Given the description of an element on the screen output the (x, y) to click on. 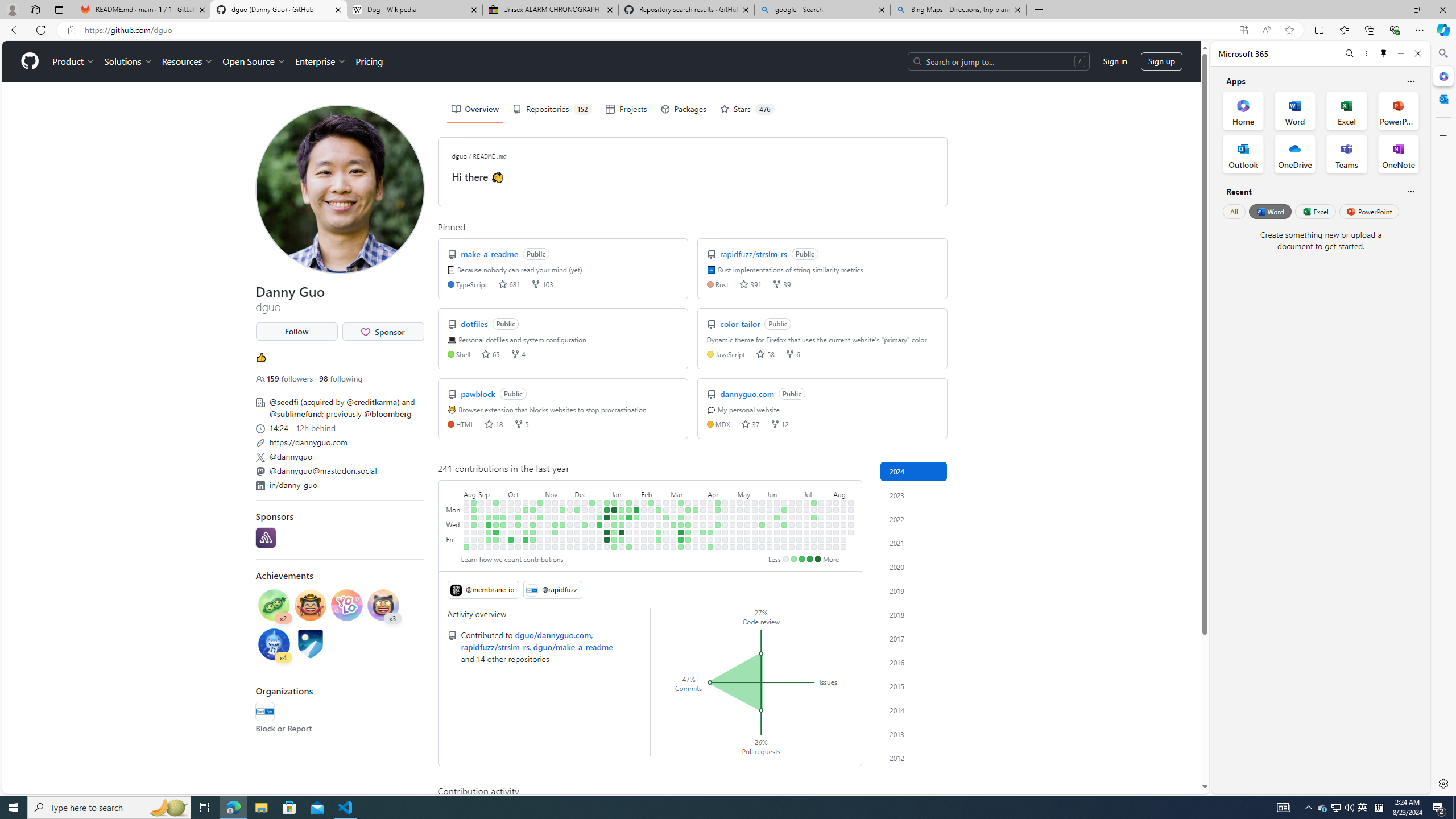
Contribution activity in 2015 (913, 686)
Overview (474, 108)
No contributions on February 14th. (651, 524)
Pricing (368, 60)
No contributions on January 14th. (621, 502)
Achievement: Pair Extraordinaire x2 (273, 606)
3 contributions on January 16th. (621, 517)
Resources (187, 60)
No contributions on October 14th. (518, 546)
7 contributions on January 1st. (607, 509)
15 contributions on January 4th. (607, 531)
@seedfi (283, 401)
No contributions on February 20th. (658, 517)
